Given the description of an element on the screen output the (x, y) to click on. 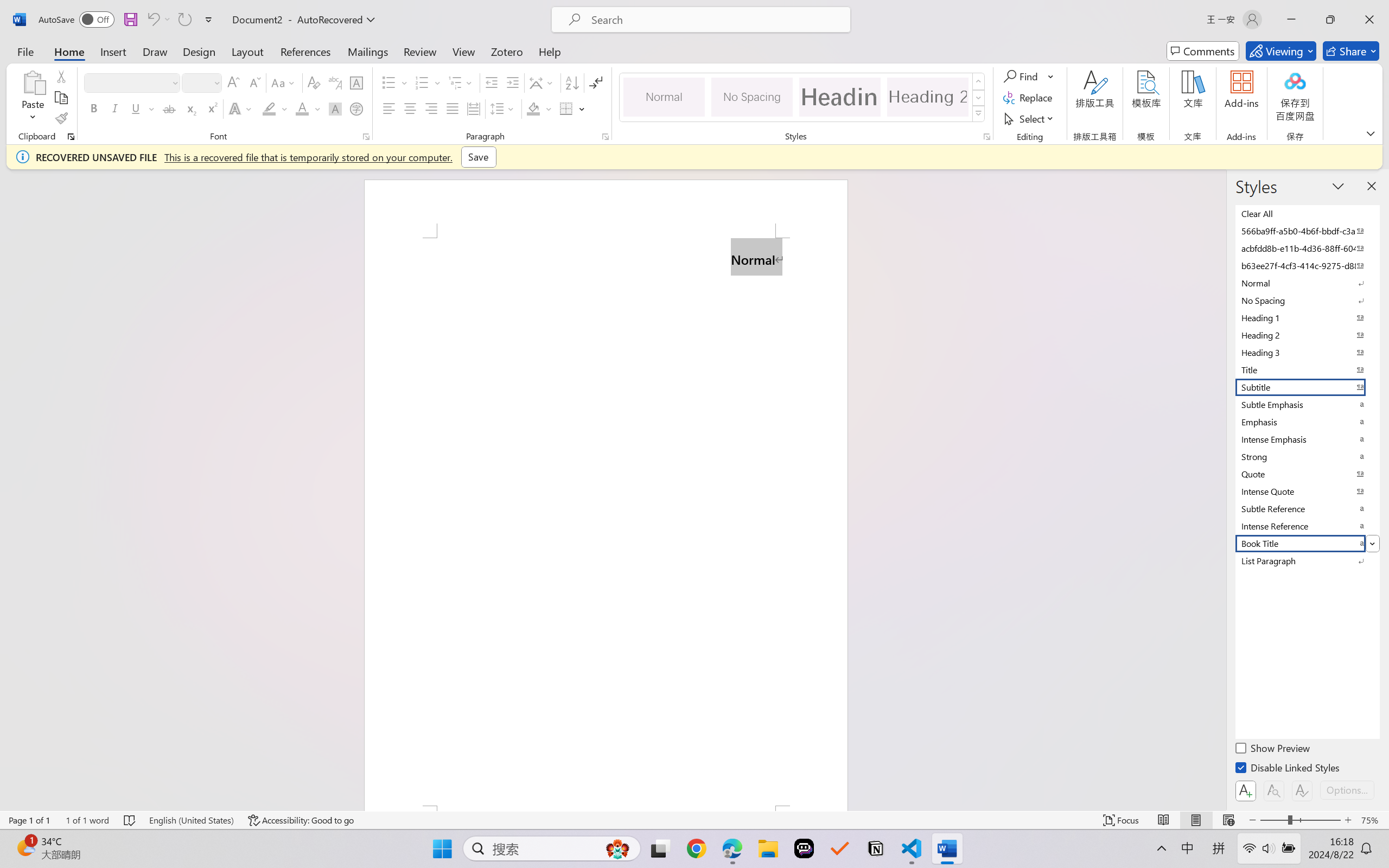
Multilevel List (461, 82)
Strong (1306, 456)
Character Shading (334, 108)
Heading 2 (927, 96)
Class: NetUIScrollBar (1219, 489)
Help (549, 51)
acbfdd8b-e11b-4d36-88ff-6049b138f862 (1306, 247)
AutomationID: QuickStylesGallery (802, 97)
Phonetic Guide... (334, 82)
Align Right (431, 108)
